Given the description of an element on the screen output the (x, y) to click on. 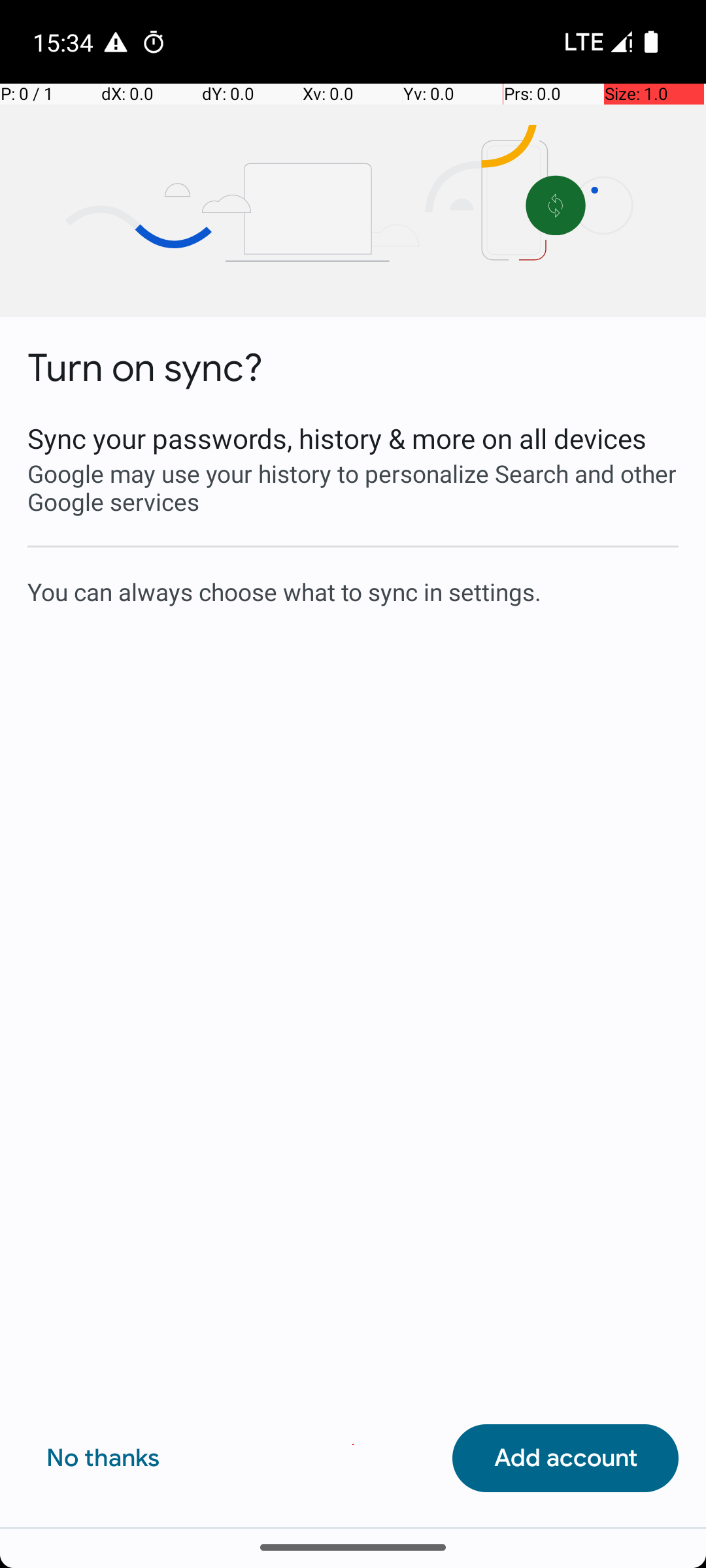
No thanks Element type: android.widget.Button (102, 1458)
Add account Element type: android.widget.Button (565, 1458)
Turn on sync? Element type: android.widget.TextView (144, 368)
Sync your passwords, history & more on all devices Element type: android.widget.TextView (352, 437)
Google may use your history to personalize Search and other Google services Element type: android.widget.TextView (352, 487)
You can always choose what to sync in settings. Element type: android.widget.TextView (352, 591)
